Given the description of an element on the screen output the (x, y) to click on. 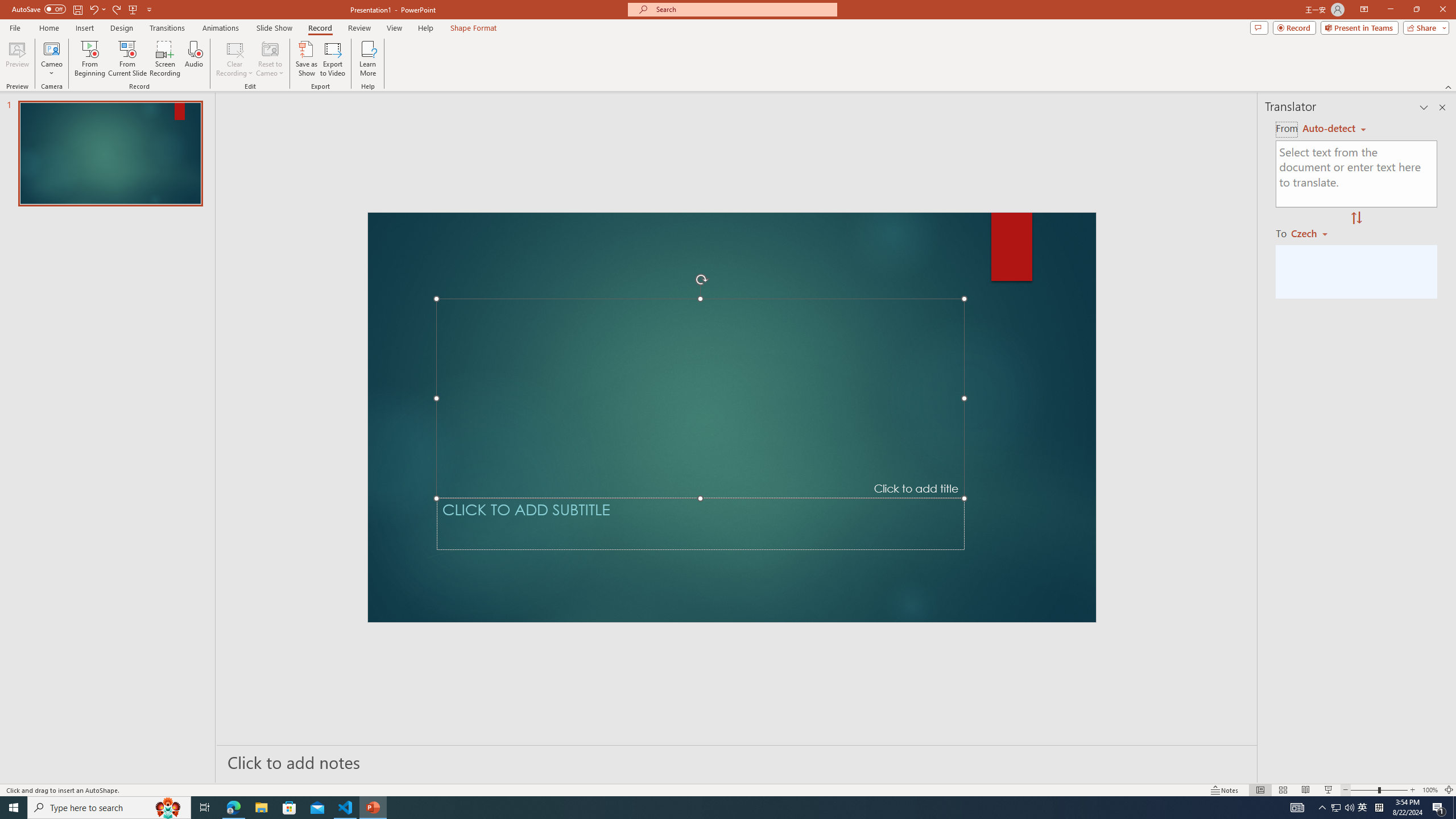
Present in Teams (1359, 27)
Subtitle TextBox (699, 523)
Task Pane Options (1423, 107)
Comments (1259, 27)
Screen Recording (165, 58)
Zoom 100% (1430, 790)
Preview (17, 58)
Ribbon Display Options (1364, 9)
Cameo (51, 58)
Notes  (1225, 790)
Zoom (1379, 790)
Cameo (51, 48)
